Given the description of an element on the screen output the (x, y) to click on. 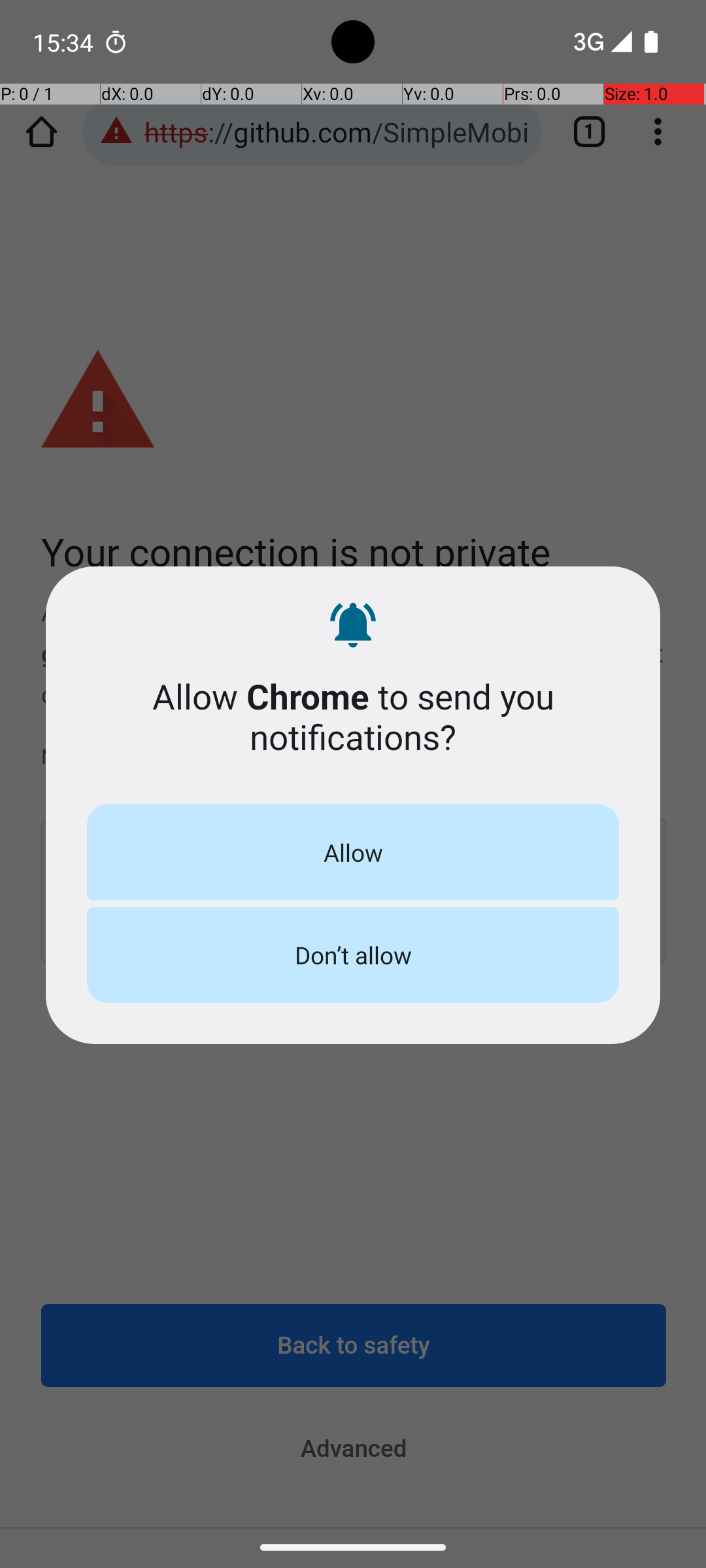
Allow Chrome to send you notifications? Element type: android.widget.TextView (352, 715)
